Given the description of an element on the screen output the (x, y) to click on. 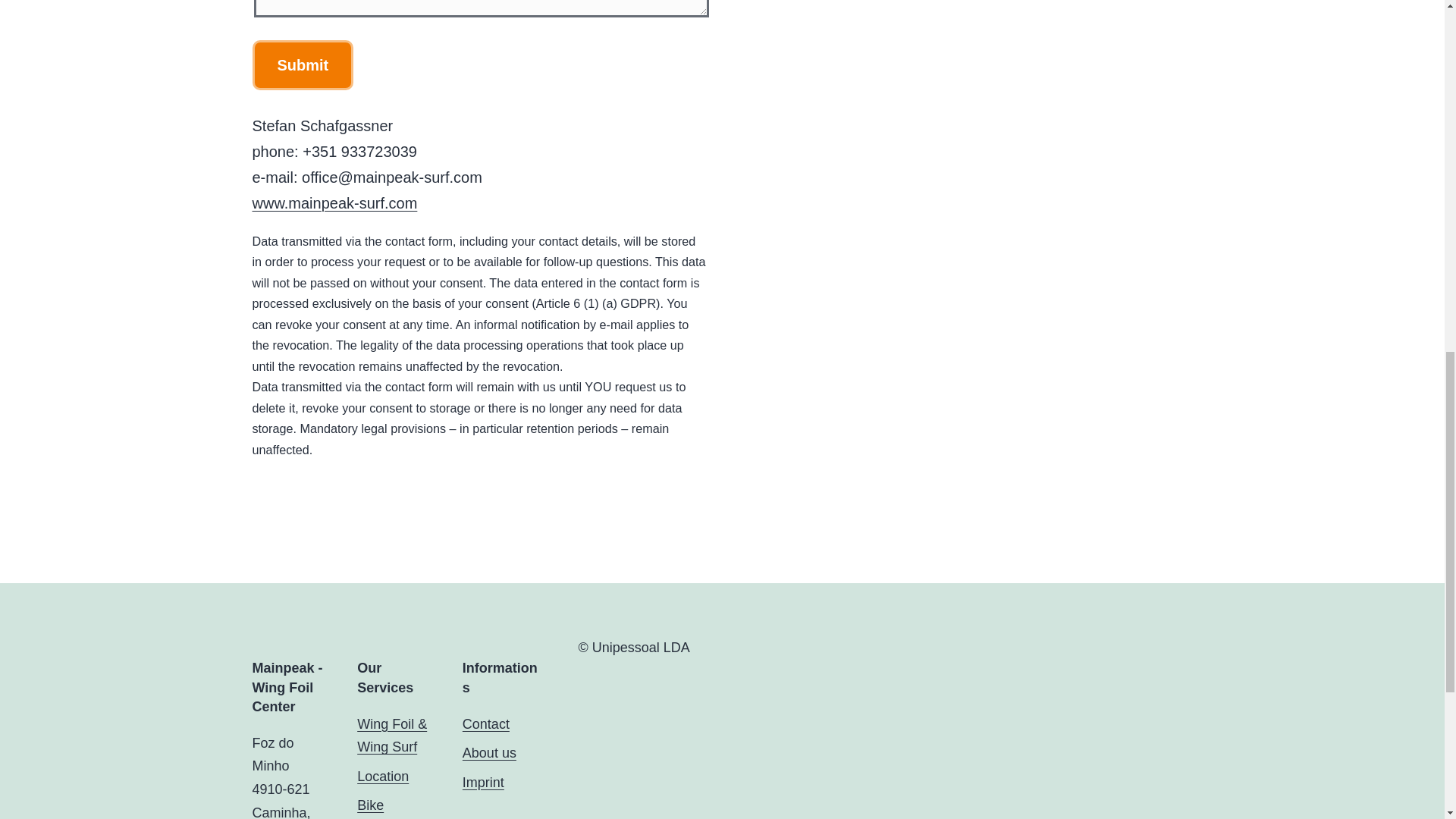
Submit (302, 65)
Location (382, 776)
Bike (370, 805)
Submit (302, 65)
About us (489, 752)
Imprint (483, 782)
www.mainpeak-surf.com (333, 202)
Contact (486, 724)
